Given the description of an element on the screen output the (x, y) to click on. 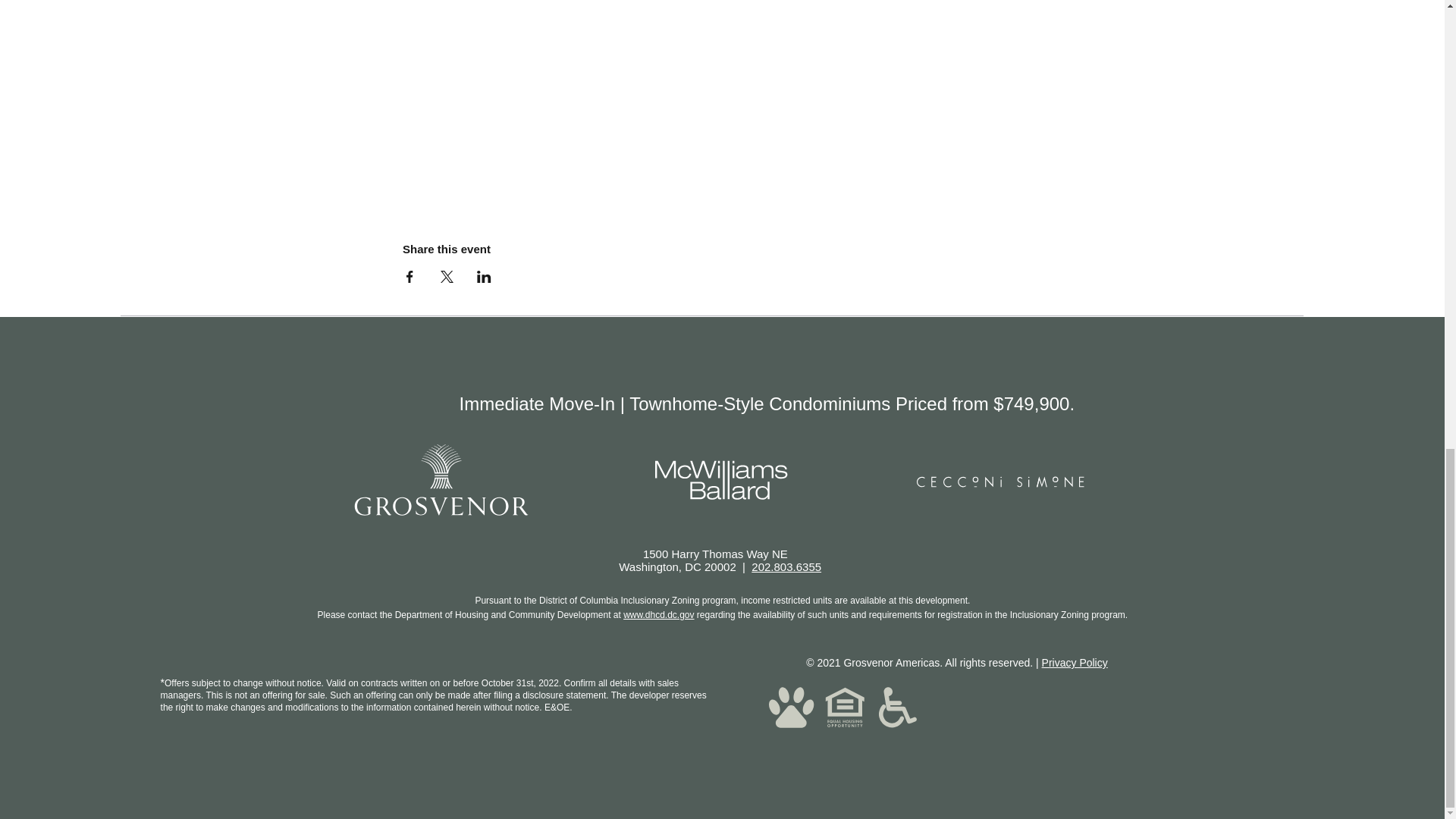
202.803.6355 (786, 566)
Privacy Policy (1075, 662)
www.dhcd.dc.gov (658, 614)
